Given the description of an element on the screen output the (x, y) to click on. 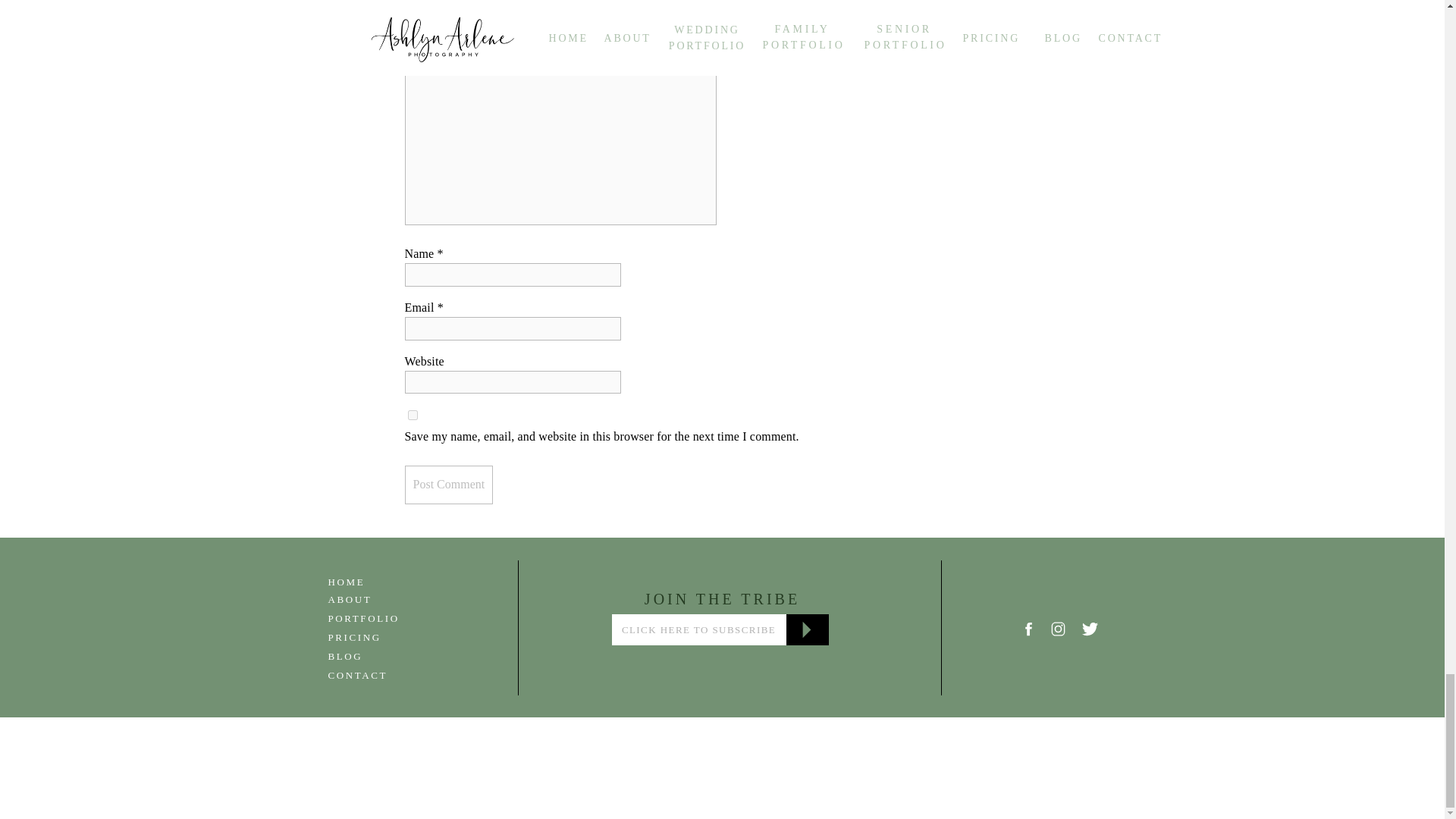
BLOG (384, 654)
Post Comment (448, 485)
HOME (384, 580)
Post Comment (448, 485)
ABOUT (384, 598)
yes (412, 415)
PRICING (384, 635)
CONTACT (384, 673)
PORTFOLIO (384, 616)
